Given the description of an element on the screen output the (x, y) to click on. 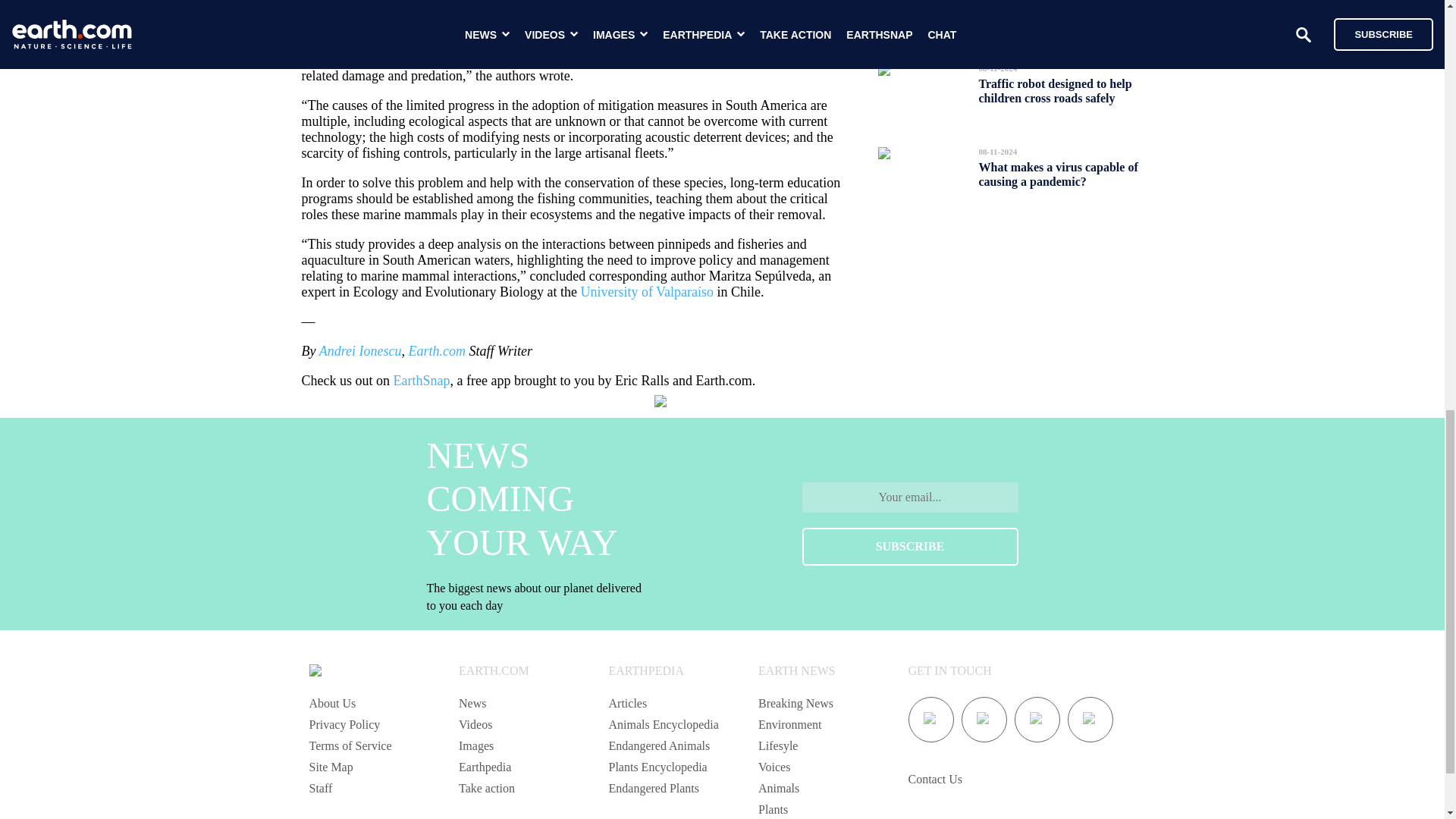
Earth.com (436, 350)
EarthSnap (421, 380)
Traffic robot designed to help children cross roads safely (1054, 90)
Andrei Ionescu (359, 350)
What makes a virus capable of causing a pandemic? (1057, 174)
